Given the description of an element on the screen output the (x, y) to click on. 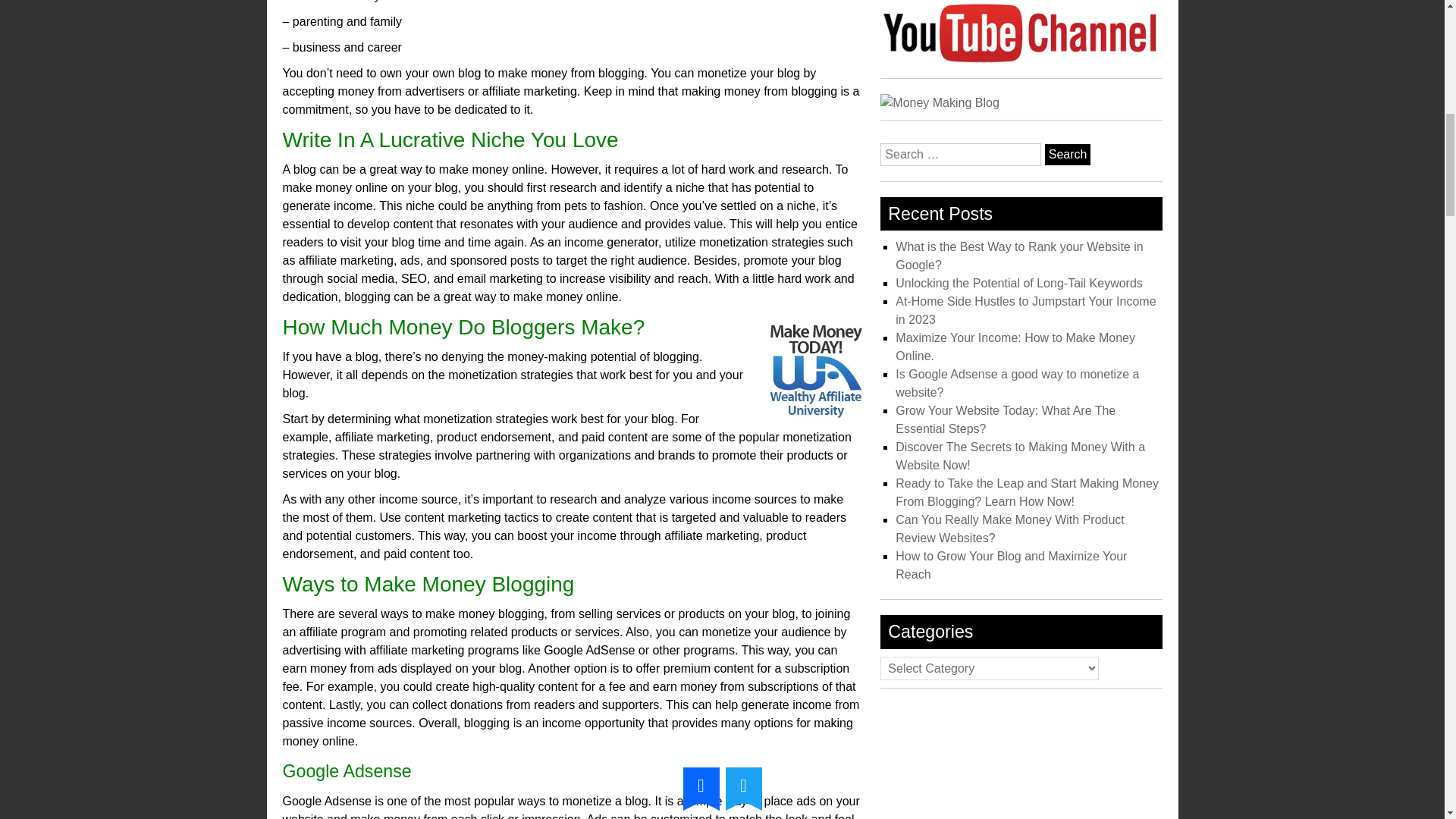
Search (1067, 154)
Search (1067, 154)
